Given the description of an element on the screen output the (x, y) to click on. 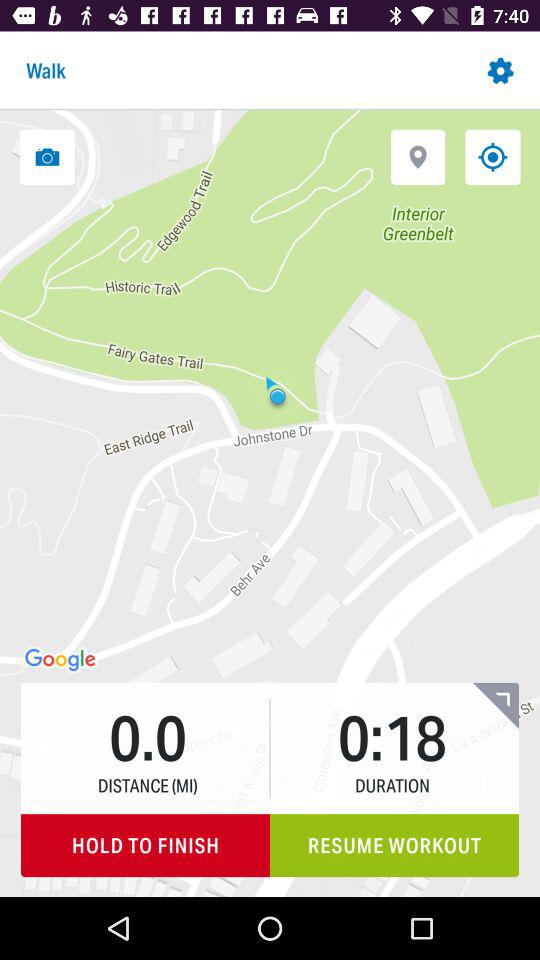
take a photo (47, 156)
